Given the description of an element on the screen output the (x, y) to click on. 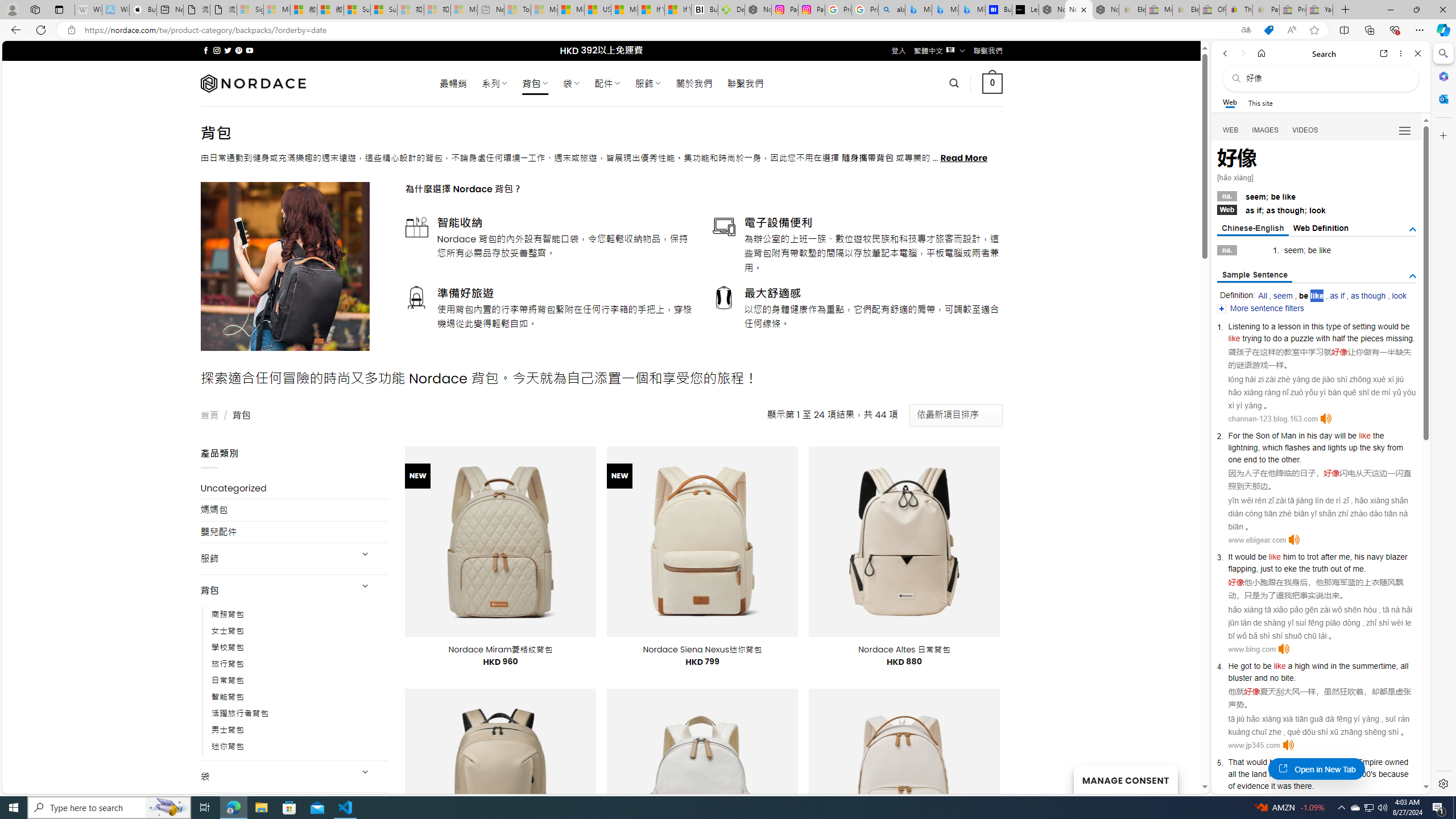
though (1290, 209)
Microsoft account | Account Checkup - Sleeping (463, 9)
Marine life - MSN - Sleeping (543, 9)
Webas if; as though; look (1316, 209)
na.seem; be like (1316, 195)
